Given the description of an element on the screen output the (x, y) to click on. 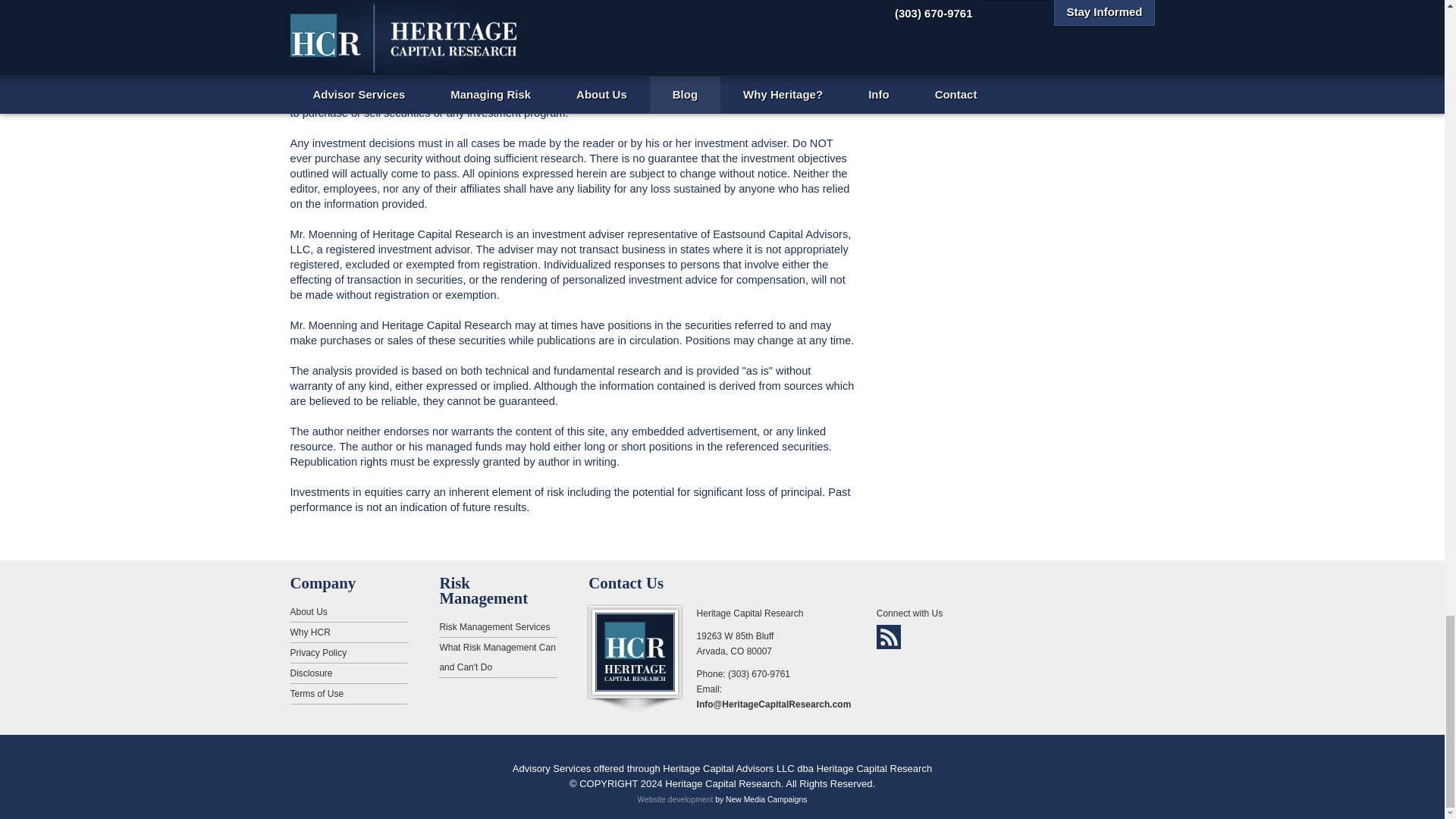
Risk Management Services (497, 627)
About Us (348, 611)
What Risk Management Can and Can't Do (497, 658)
RSS (888, 636)
Terms of Use (348, 693)
Website development (675, 799)
Privacy Policy (348, 652)
Why HCR (348, 632)
Disclosure (348, 673)
